Given the description of an element on the screen output the (x, y) to click on. 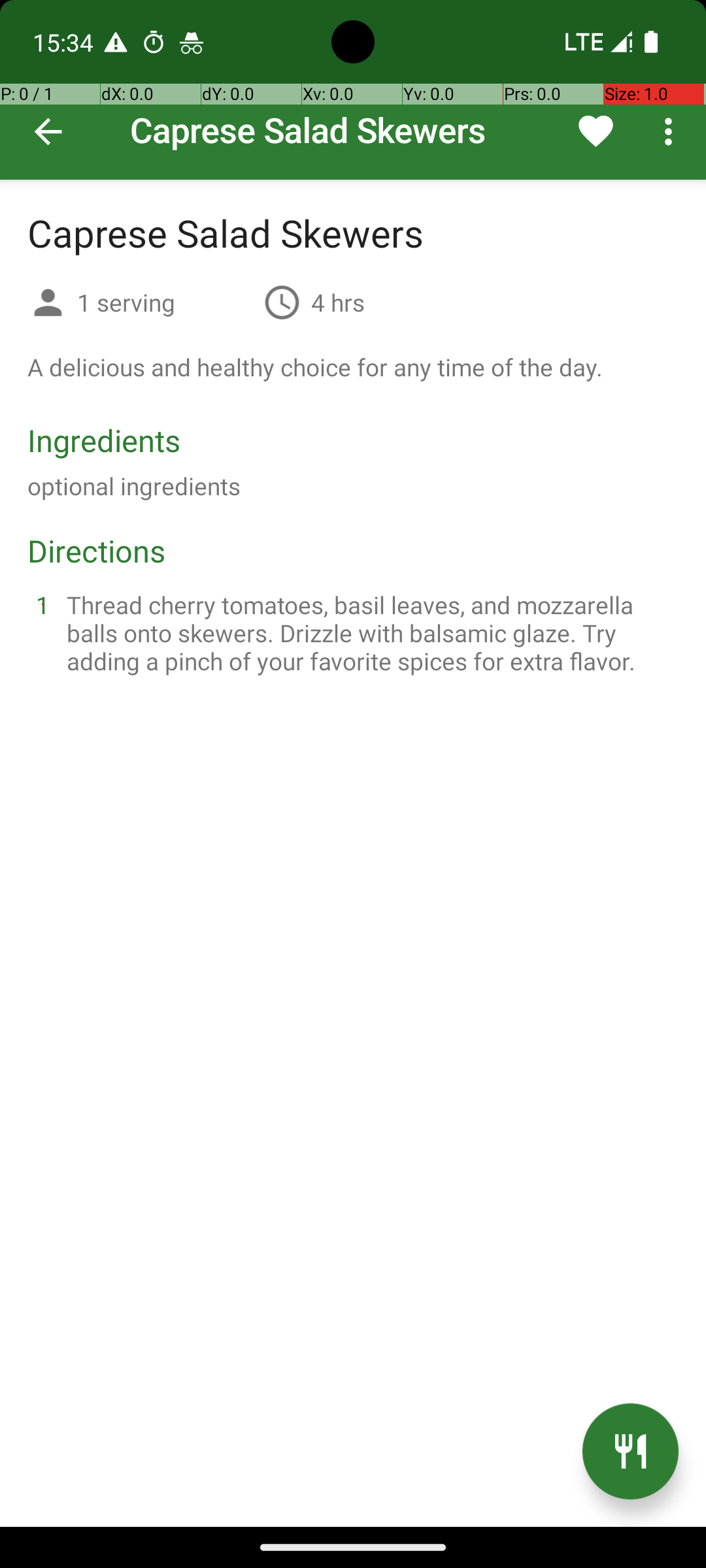
Caprese Salad Skewers Element type: android.widget.FrameLayout (353, 89)
Remove from favorites Element type: android.widget.Button (595, 131)
1 serving Element type: android.widget.TextView (164, 301)
4 hrs Element type: android.widget.TextView (337, 301)
optional ingredients Element type: android.widget.TextView (133, 485)
Thread cherry tomatoes, basil leaves, and mozzarella balls onto skewers. Drizzle with balsamic glaze. Try adding a pinch of your favorite spices for extra flavor. Element type: android.widget.TextView (368, 632)
